Given the description of an element on the screen output the (x, y) to click on. 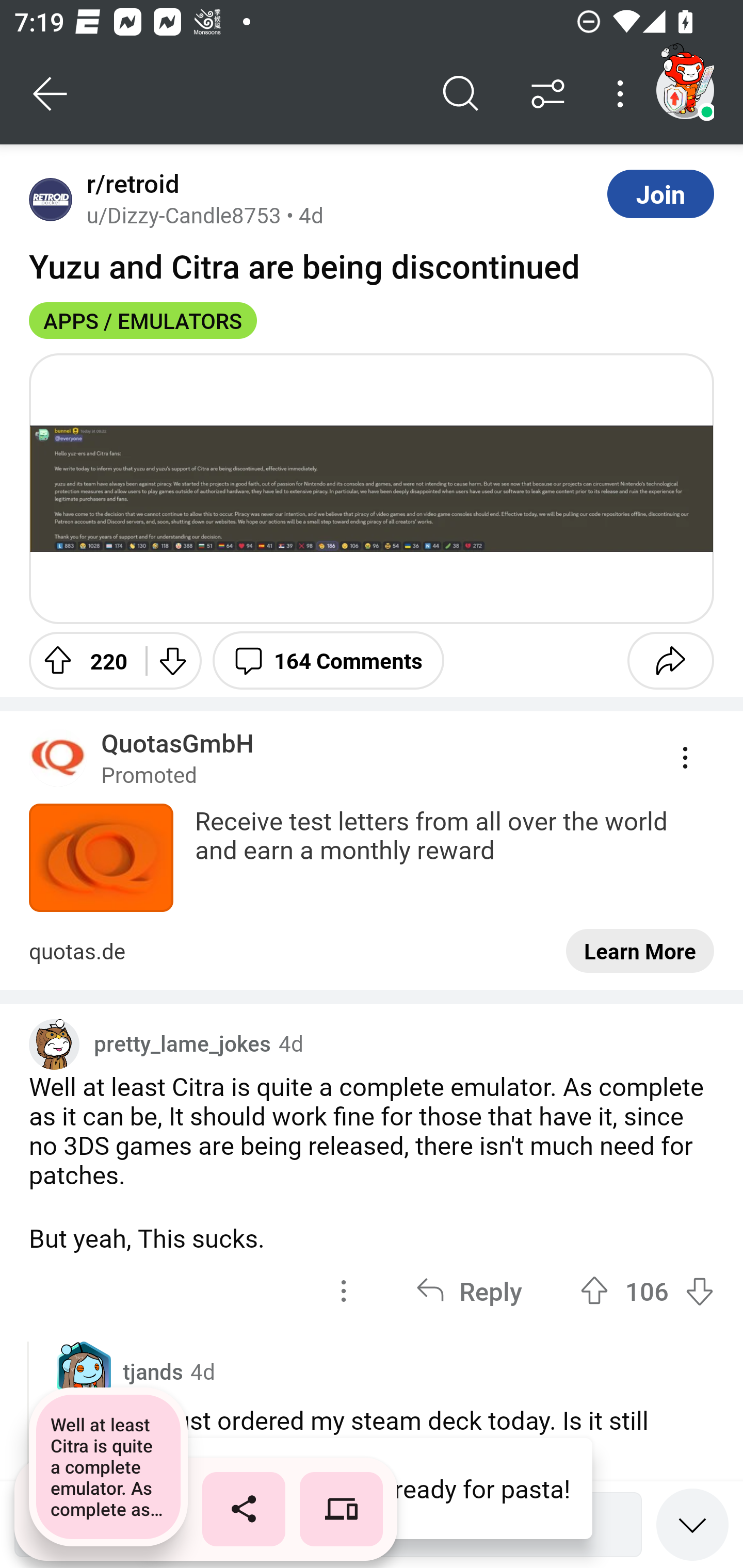
Back (50, 93)
TestAppium002 account (685, 90)
Search comments (460, 93)
Sort comments (547, 93)
More options (623, 93)
r/retroid (129, 183)
Join (660, 193)
Avatar (50, 199)
APPS / EMULATORS (142, 320)
Image (371, 488)
Upvote 220 (79, 660)
Downvote (171, 660)
164 Comments (328, 660)
Share (670, 660)
Custom avatar (53, 1044)
options (343, 1290)
Reply (469, 1290)
Upvote 106 106 votes Downvote (647, 1290)
Speed read (692, 1524)
